Given the description of an element on the screen output the (x, y) to click on. 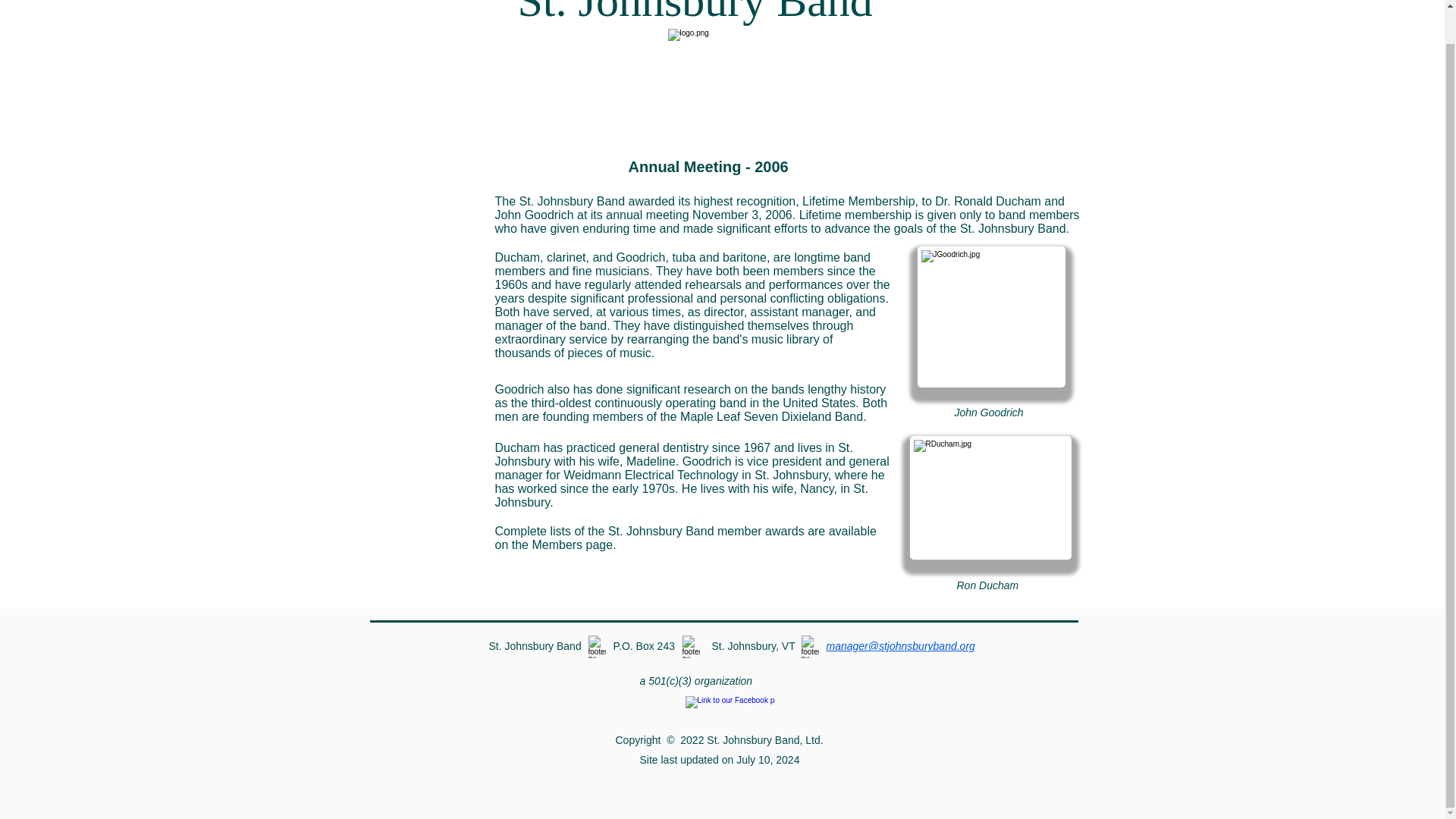
John Goodrich (991, 316)
Members (413, 308)
Home (413, 380)
News (413, 237)
Calendar (413, 202)
Ron Ducham (990, 497)
History (413, 273)
Contact Us (413, 344)
Mission (413, 166)
